Given the description of an element on the screen output the (x, y) to click on. 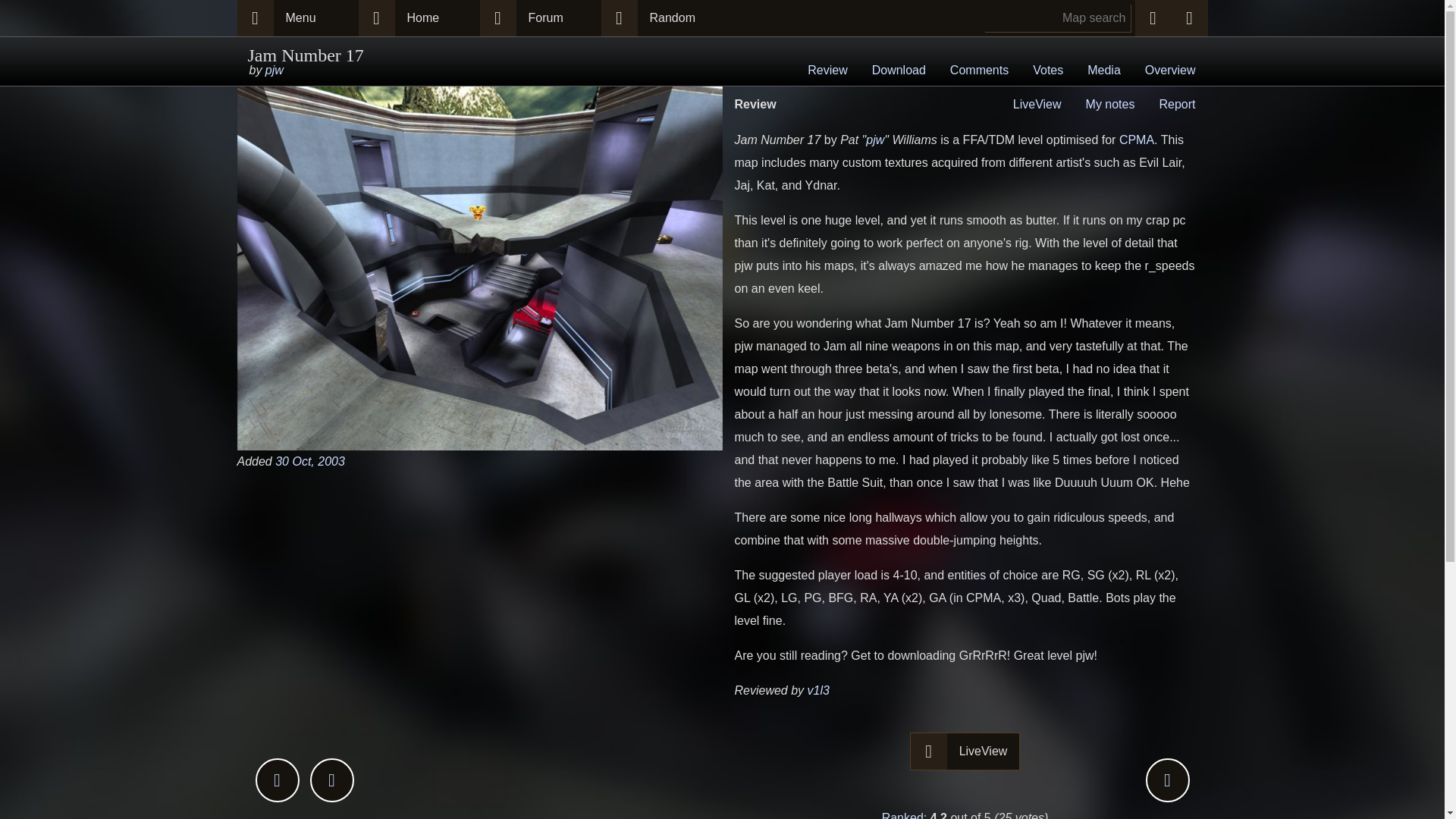
My notes (1110, 103)
Home (436, 18)
Votes (1047, 70)
LiveView (983, 751)
Ranked (902, 815)
Login or register (1188, 18)
Forum (557, 18)
LiveView (1037, 103)
CPMA (1136, 139)
pjw (273, 69)
Media (1103, 70)
Review (826, 70)
pjw (874, 139)
Random (679, 18)
Menu (315, 18)
